Given the description of an element on the screen output the (x, y) to click on. 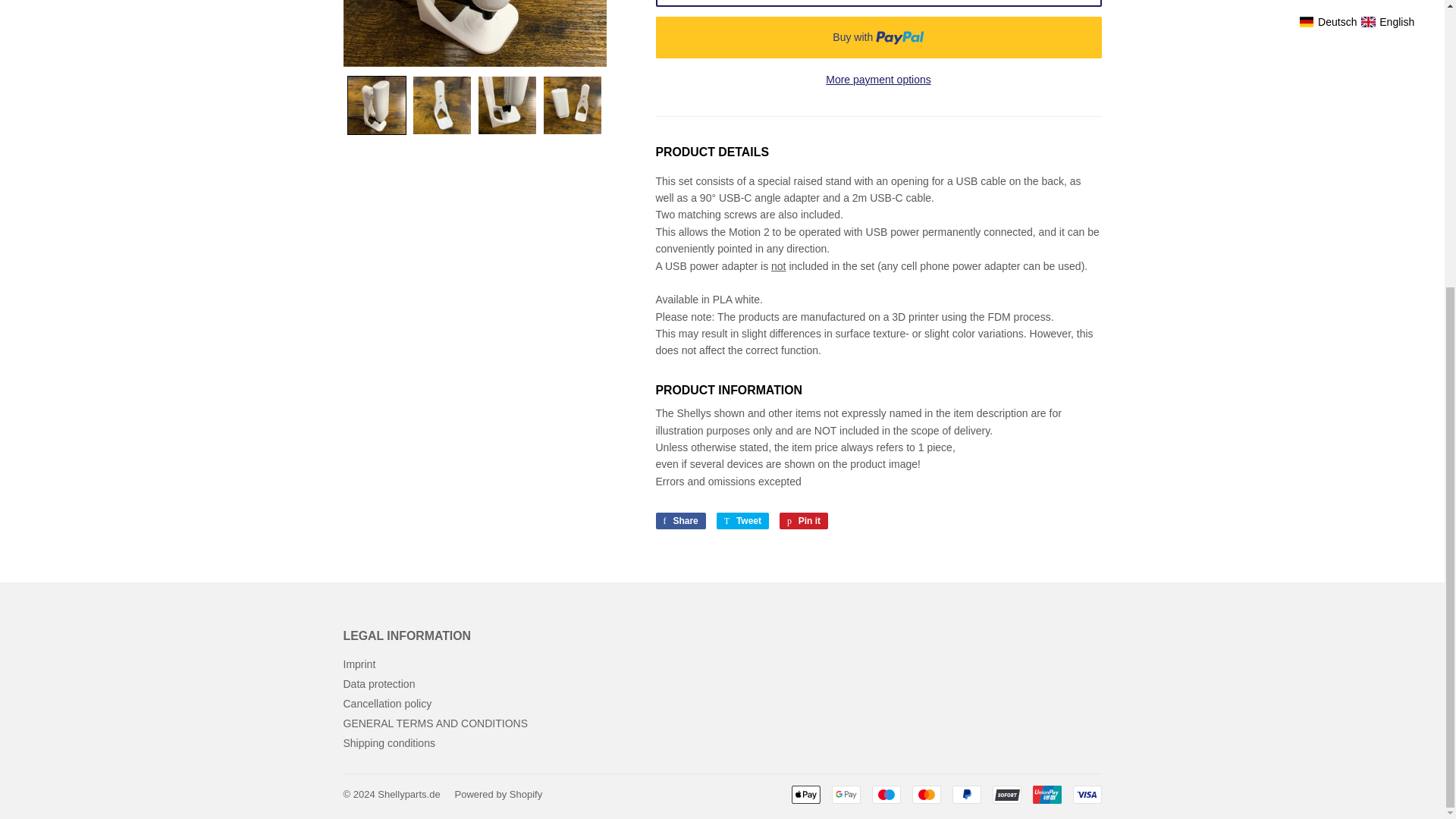
Shipping conditions (387, 743)
Share on Facebook (679, 520)
More payment options (742, 520)
Pin on Pinterest (877, 79)
Cancellation policy (803, 520)
Data protection (803, 520)
Tweet on Twitter (386, 703)
Shellyparts.de (378, 684)
Maestro (742, 520)
Apple Pay (408, 794)
Visa (886, 794)
Google Pay (806, 794)
